Given the description of an element on the screen output the (x, y) to click on. 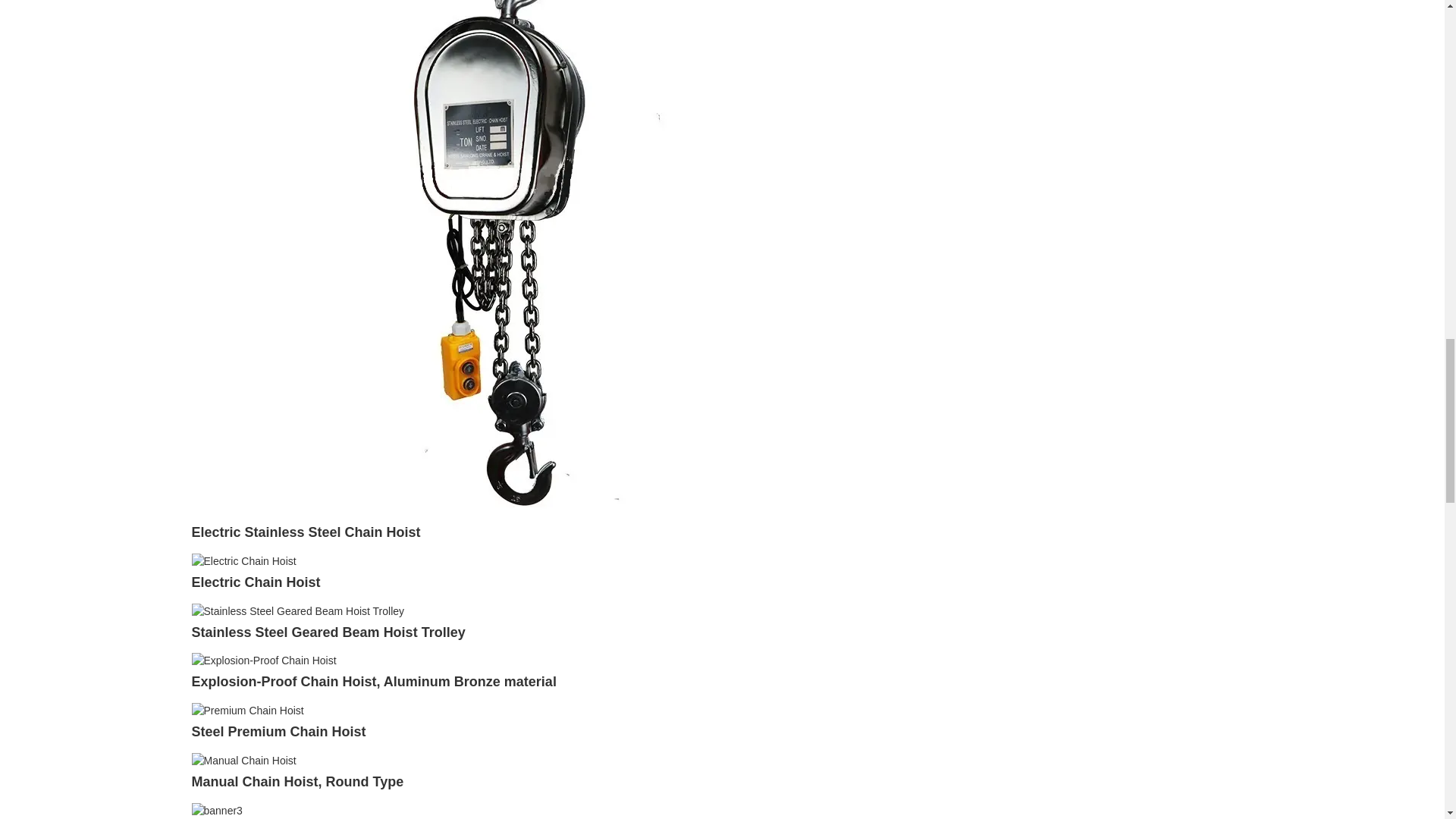
Explosion-Proof Chain Hoist, Aluminum Bronze material (263, 660)
Explosion-Proof Chain Hoist, Aluminum Bronze material (373, 681)
Stainless Steel  Geared  Beam Hoist Trolley (327, 631)
Electric Stainless Steel Chain Hoist (493, 215)
Steel Premium Chain Hoist (246, 709)
Electric Stainless Steel Chain Hoist (305, 531)
Steel Premium Chain Hoist (277, 731)
Electric Chain Hoist (242, 560)
Stainless Steel  Geared  Beam Hoist Trolley (297, 610)
Electric Chain Hoist (255, 581)
